Given the description of an element on the screen output the (x, y) to click on. 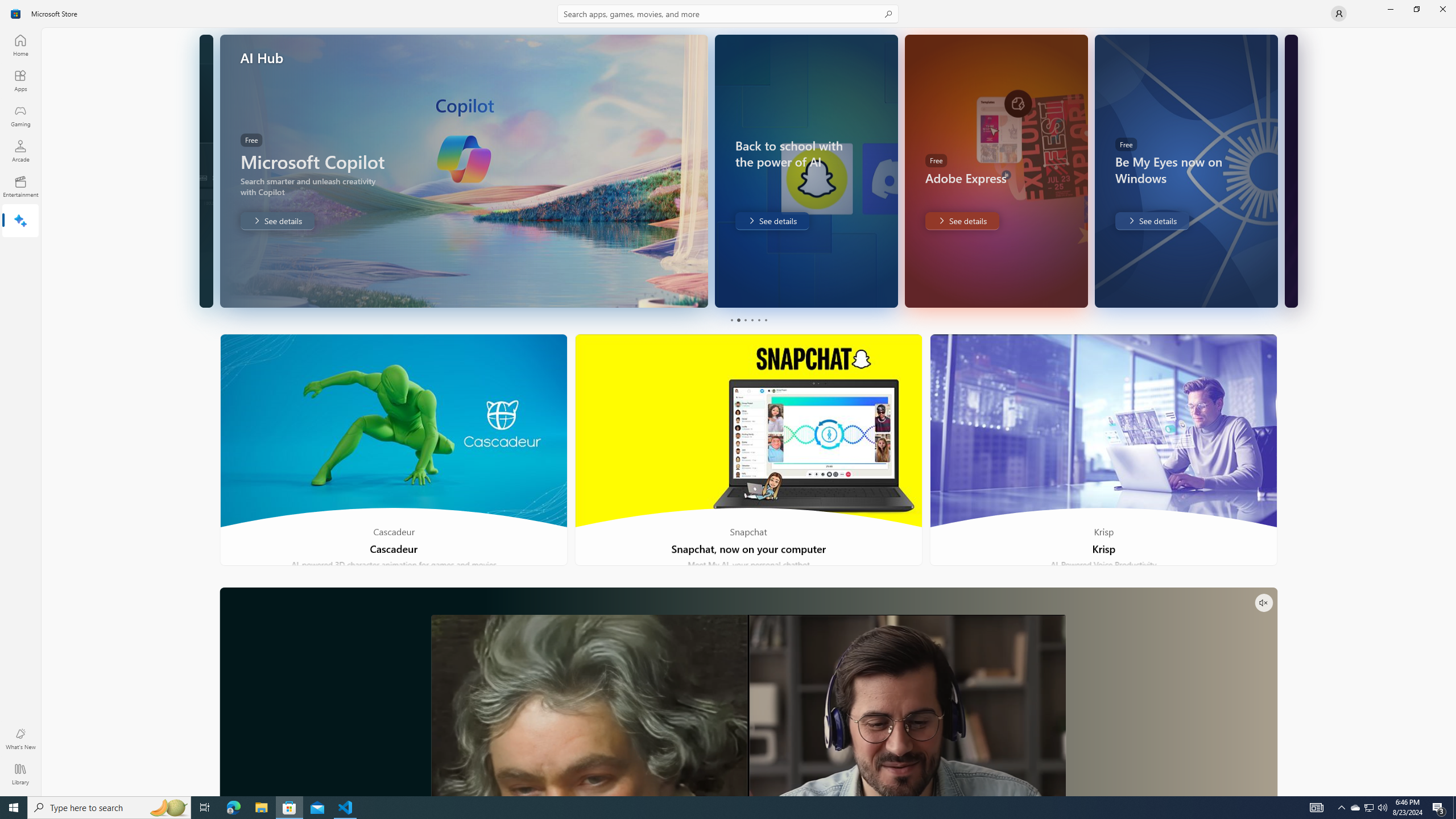
Pager (748, 319)
